Given the description of an element on the screen output the (x, y) to click on. 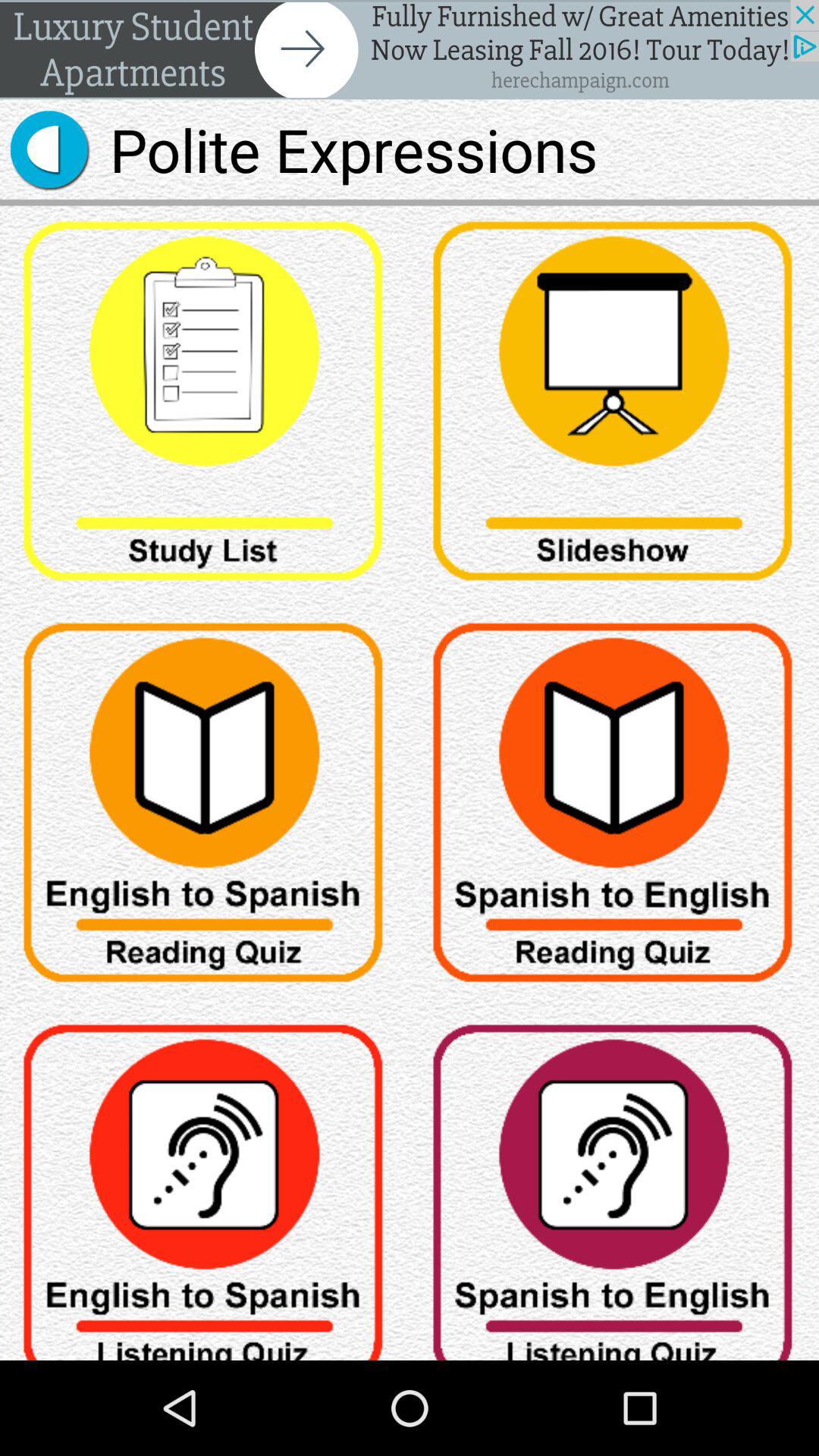
click advertisement (409, 49)
